Given the description of an element on the screen output the (x, y) to click on. 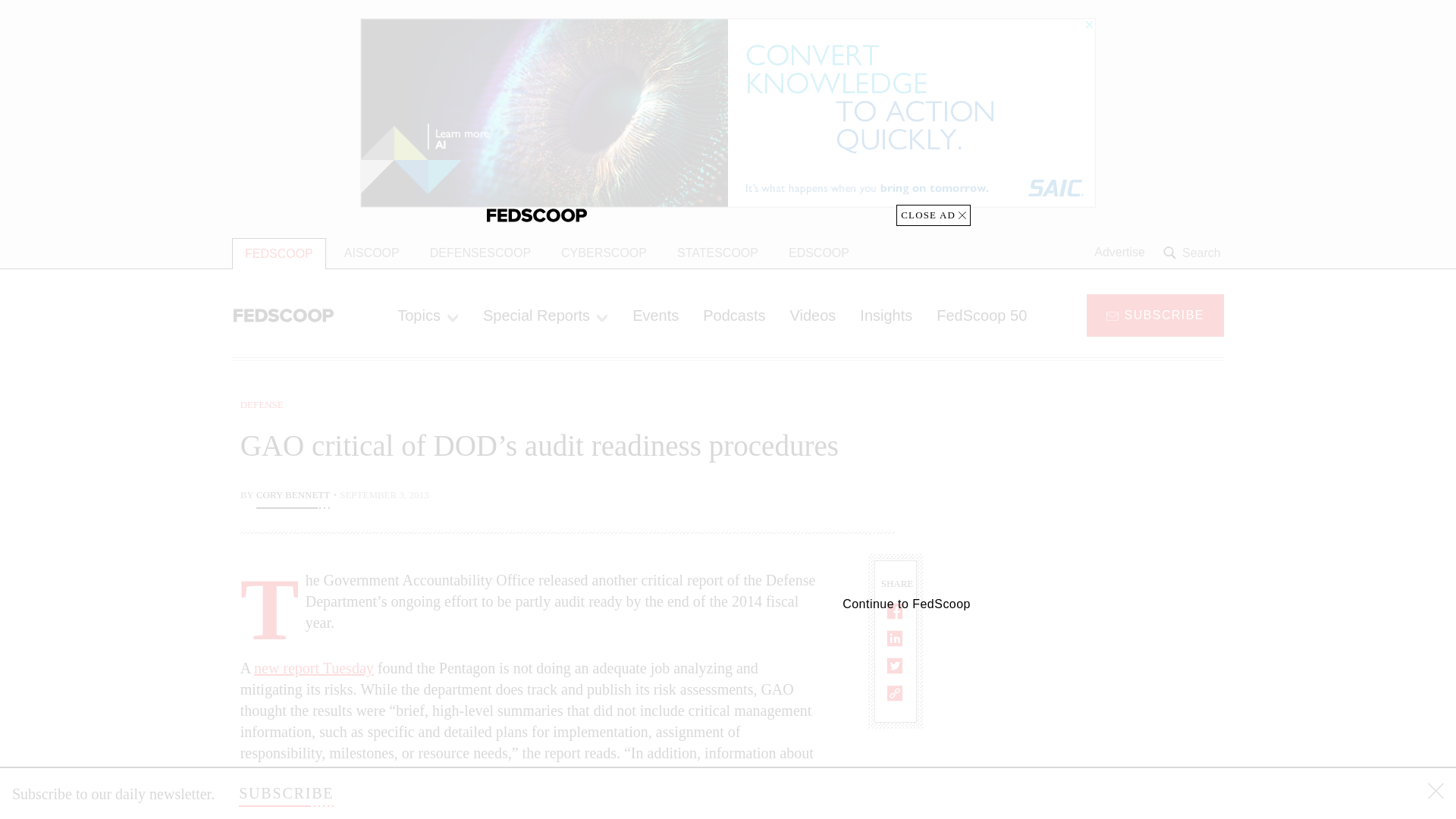
CYBERSCOOP (603, 253)
3rd party ad content (1101, 492)
Podcasts (733, 315)
AISCOOP (371, 253)
Search (1193, 252)
Topics (427, 315)
DEFENSESCOOP (480, 253)
Videos (812, 315)
Events (655, 315)
FedScoop 50 (981, 315)
FEDSCOOP (278, 253)
Special Reports (545, 315)
STATESCOOP (717, 253)
EDSCOOP (818, 253)
